Given the description of an element on the screen output the (x, y) to click on. 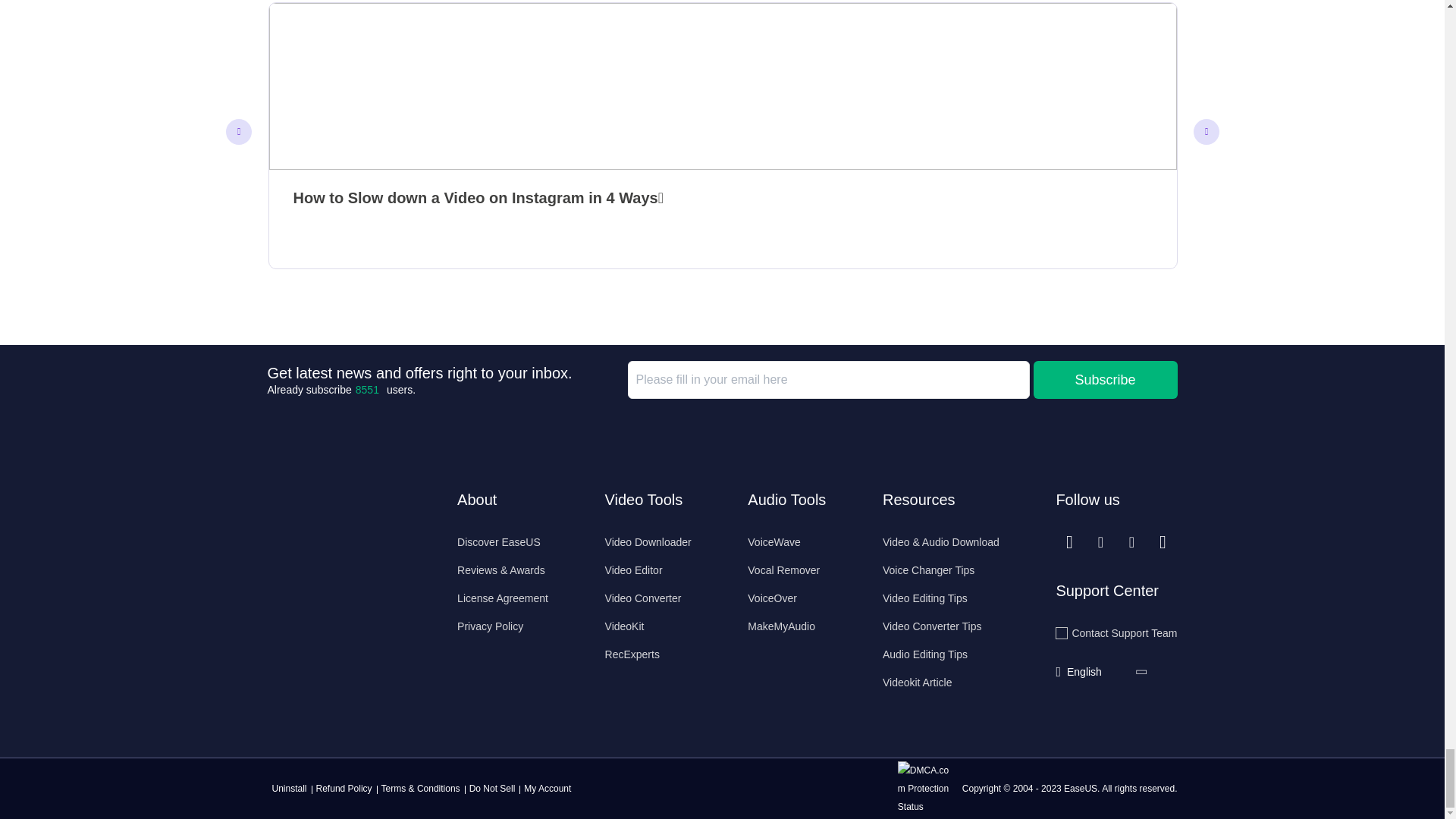
DMCA.com Protection Status (928, 787)
